Given the description of an element on the screen output the (x, y) to click on. 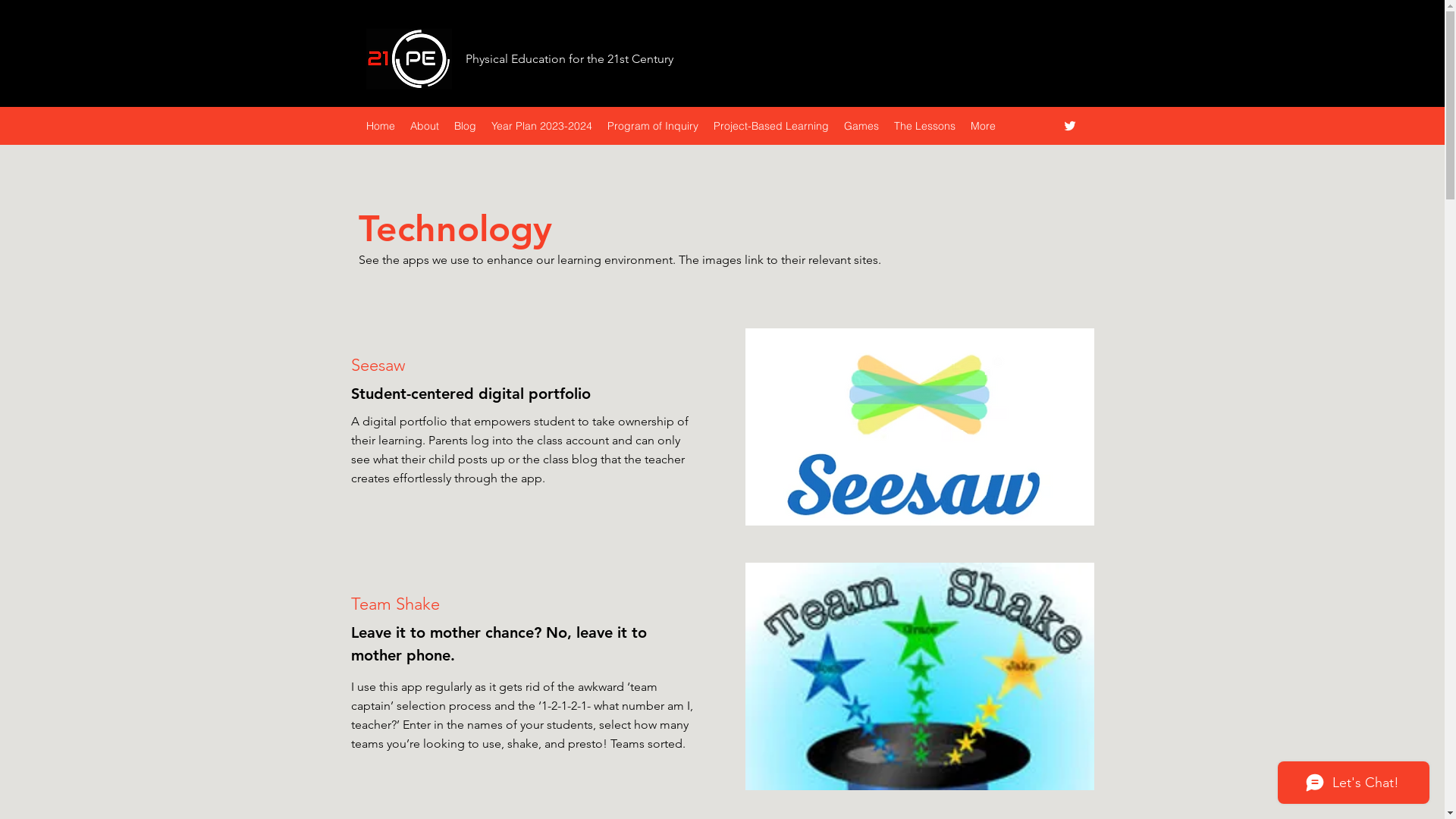
Program of Inquiry Element type: text (652, 125)
Year Plan 2023-2024 Element type: text (541, 125)
About Element type: text (423, 125)
Games Element type: text (860, 125)
Home Element type: text (379, 125)
Project-Based Learning Element type: text (770, 125)
The Lessons Element type: text (923, 125)
Blog Element type: text (464, 125)
